Given the description of an element on the screen output the (x, y) to click on. 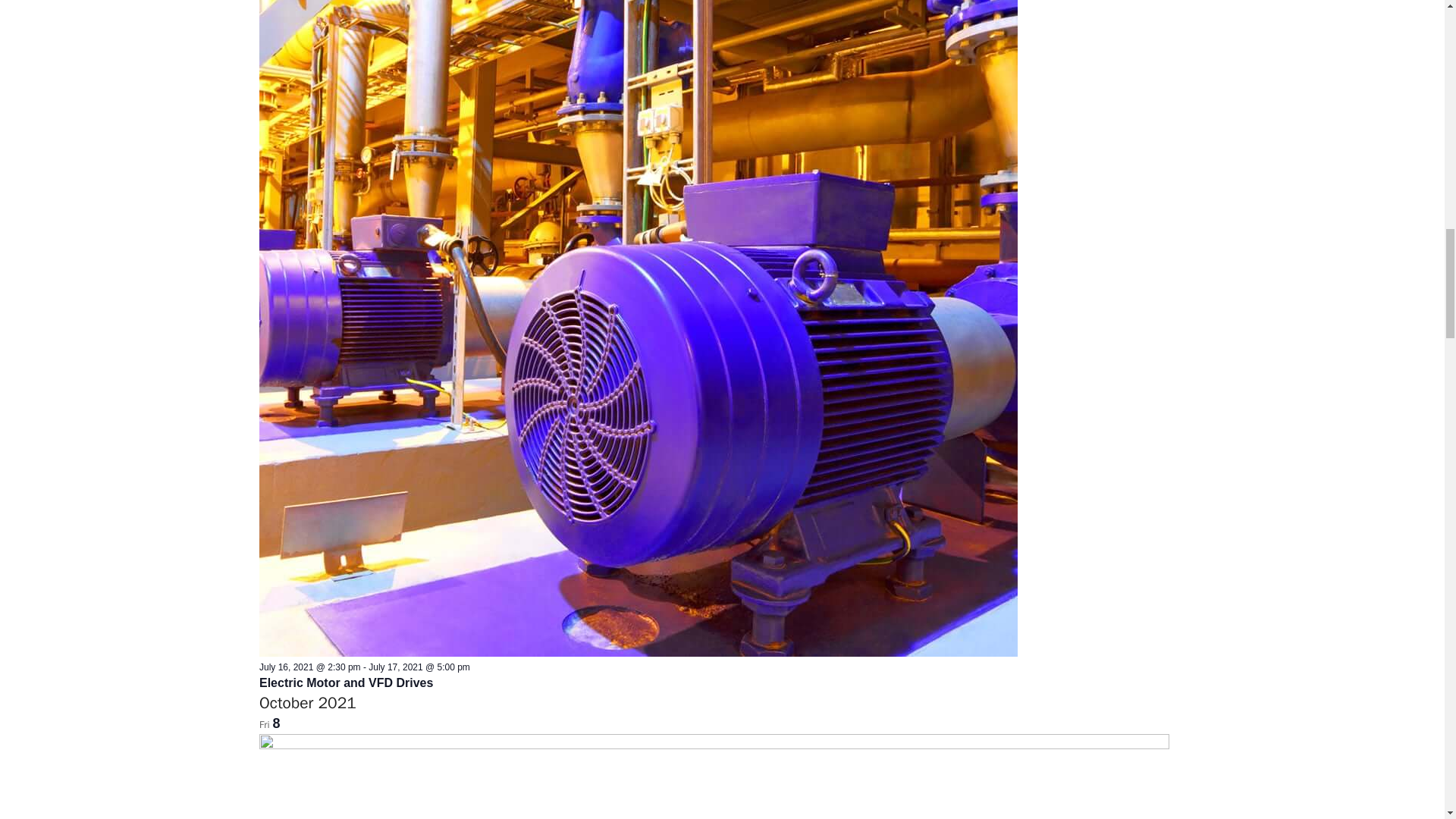
Electric Motor and VFD Drives (638, 653)
Electric Motor and VFD Drives (345, 683)
Electric Motor and VFD Drives (345, 683)
ehud-neuhaus-wW5854gAm1c-unsplash-2 (714, 776)
